Given the description of an element on the screen output the (x, y) to click on. 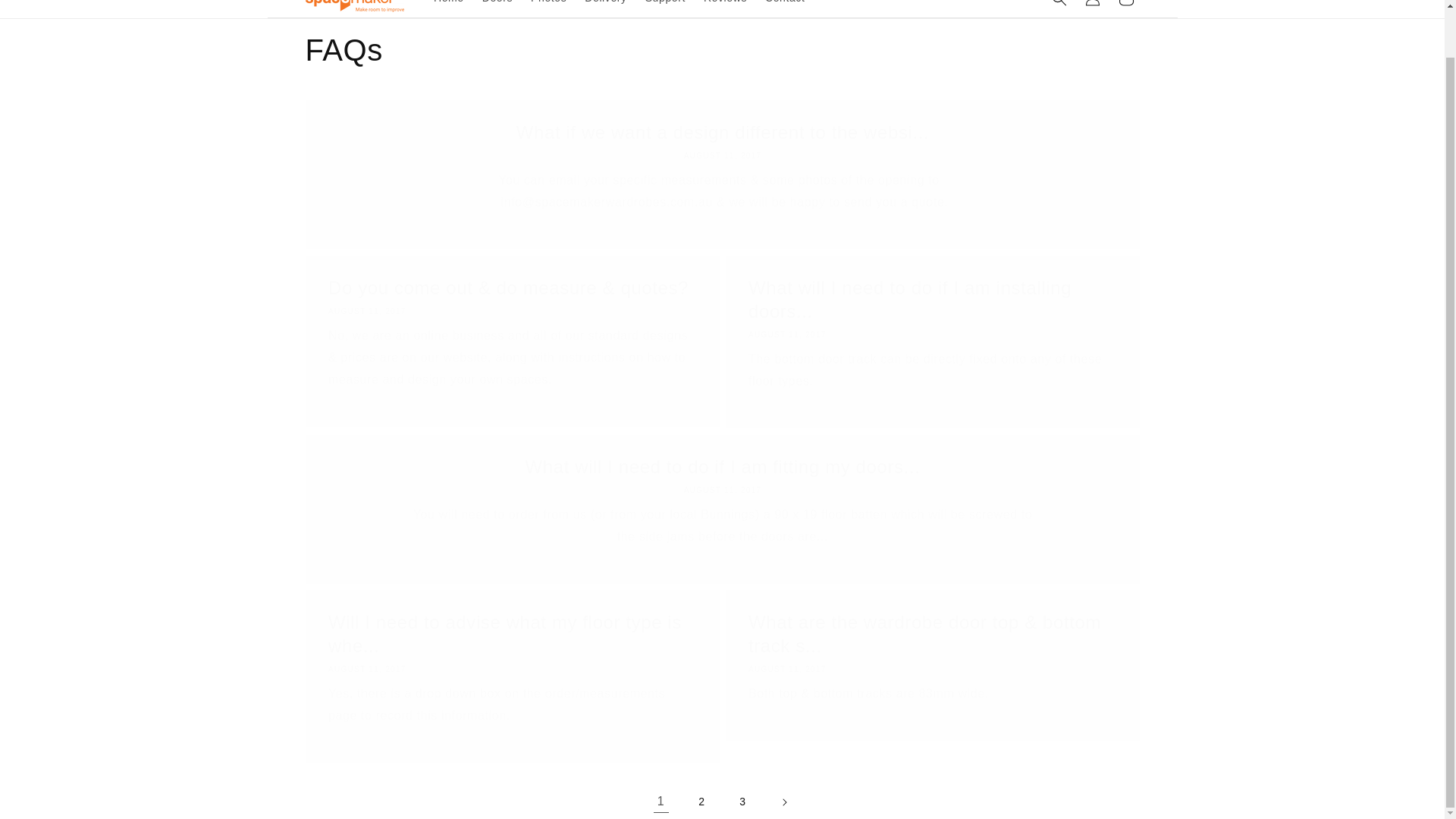
1 (661, 801)
Cart (1124, 7)
Log in (1091, 7)
Home (449, 6)
Will I need to advise what my floor type is whe... (511, 633)
What will I need to do if I am installing doors... (932, 299)
What if we want a design different to the websi... (721, 132)
Delivery (604, 6)
Contact (784, 6)
